Given the description of an element on the screen output the (x, y) to click on. 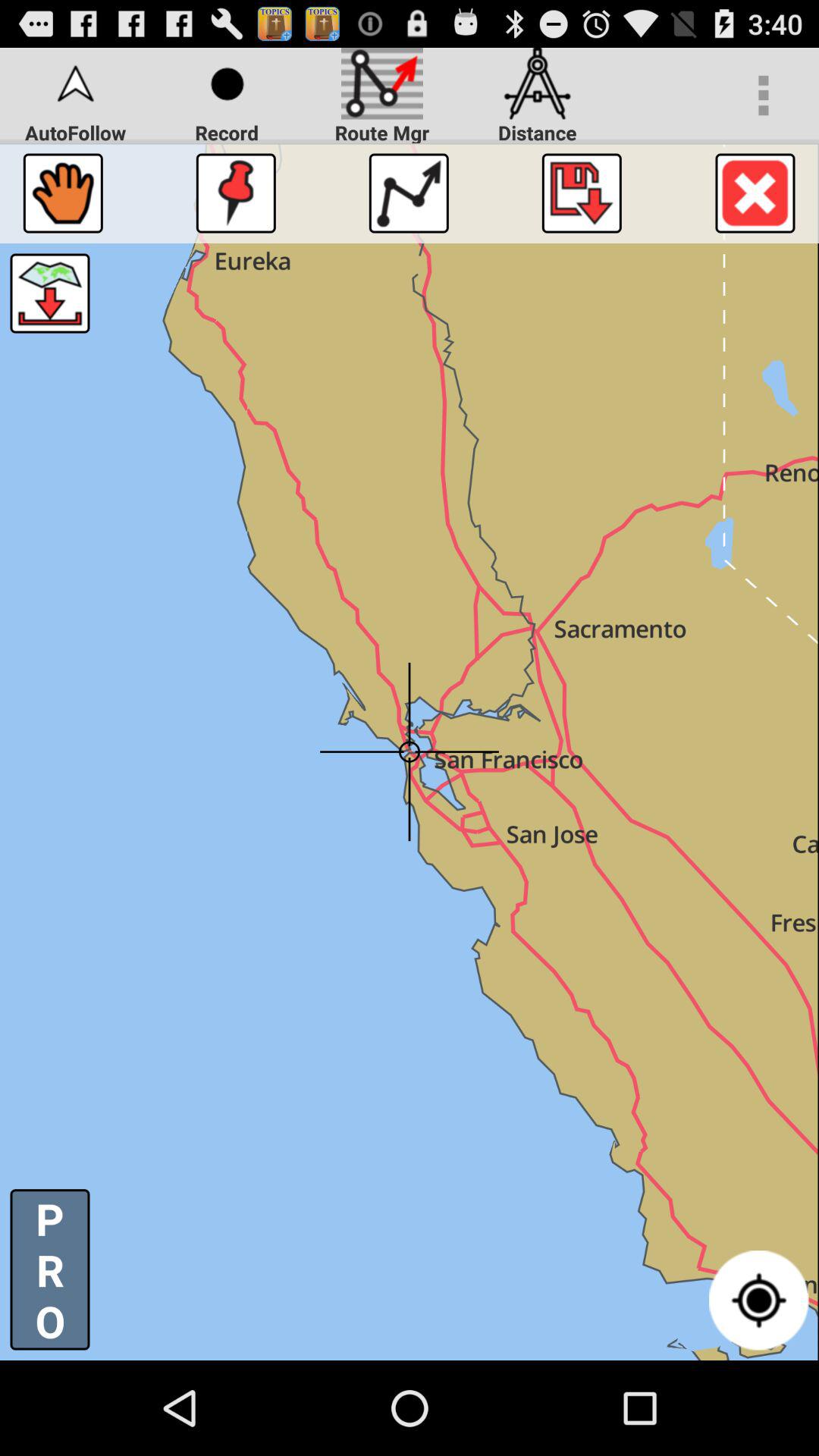
downloadthe map (581, 193)
